Given the description of an element on the screen output the (x, y) to click on. 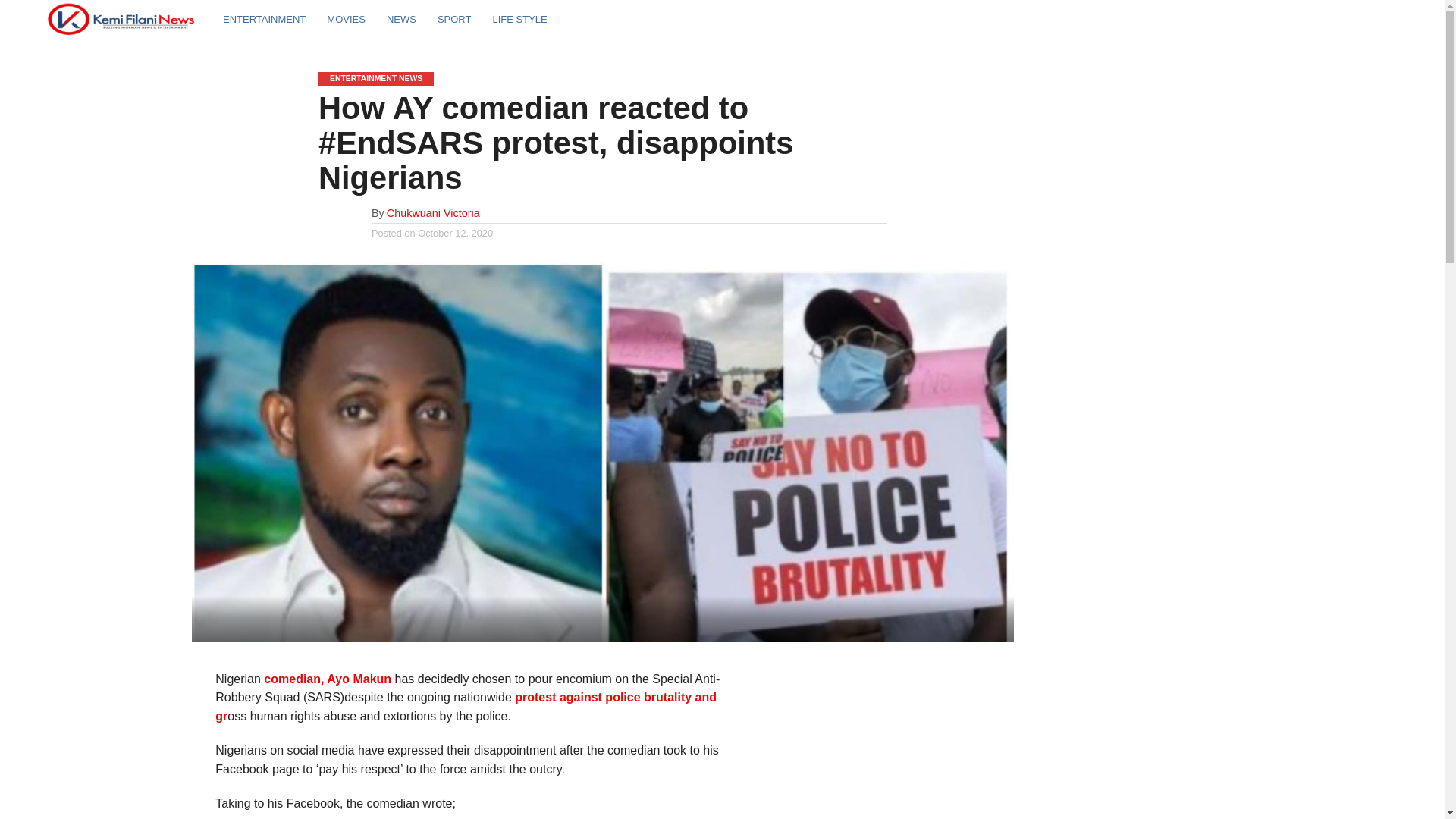
LIFE STYLE (519, 18)
Posts by Chukwuani Victoria (433, 213)
SPORT (453, 18)
comedian, Ayo Makun (328, 678)
Chukwuani Victoria (433, 213)
MOVIES (345, 18)
ENTERTAINMENT (263, 18)
NEWS (400, 18)
protest against police brutality and gr (465, 706)
